Given the description of an element on the screen output the (x, y) to click on. 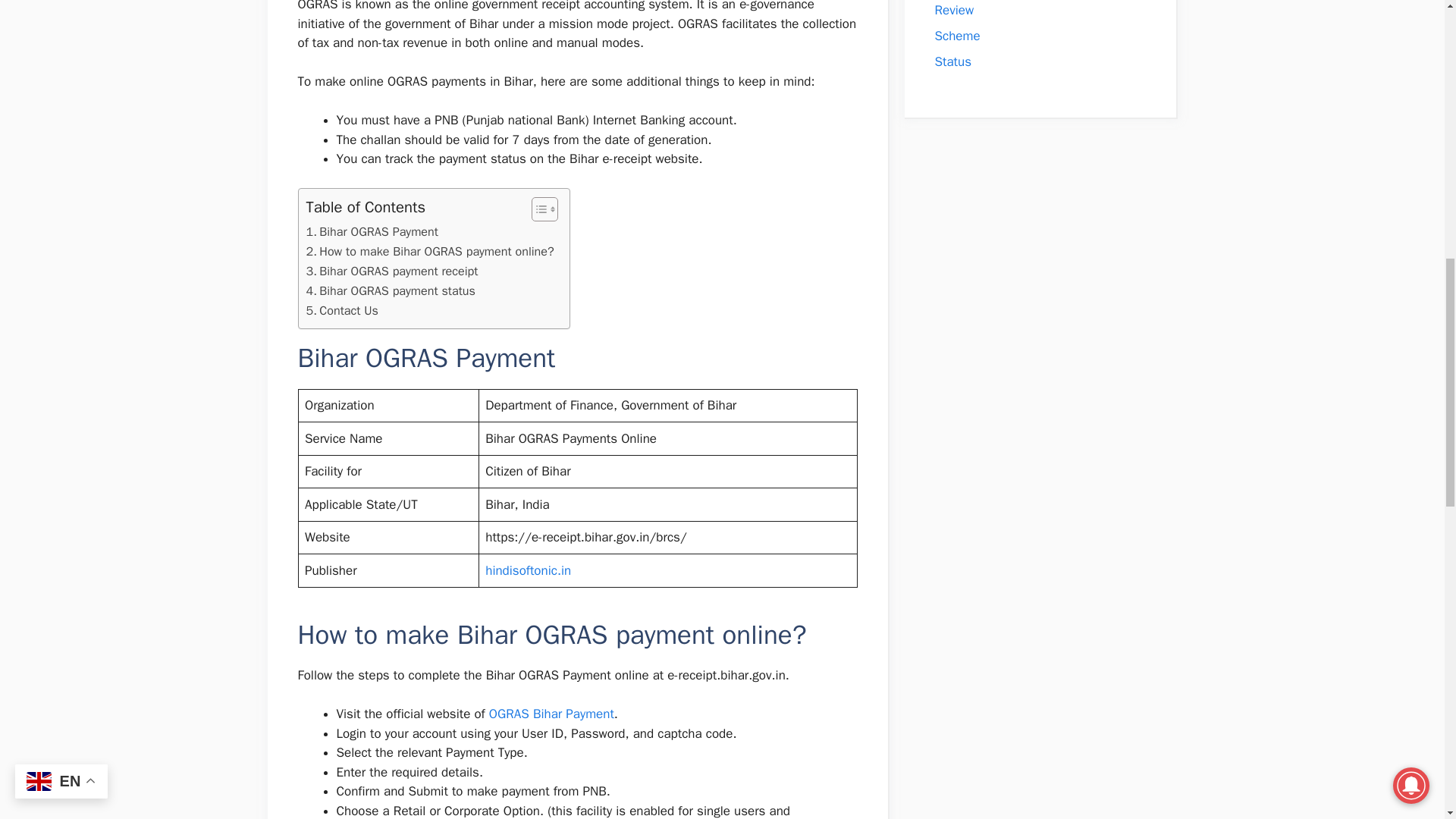
Bihar OGRAS Payment (371, 231)
Bihar OGRAS payment receipt (392, 271)
Contact Us (341, 311)
Contact Us (341, 311)
hindisoftonic.in (527, 570)
How to make Bihar OGRAS payment online? (429, 251)
Bihar OGRAS payment status (390, 291)
Bihar OGRAS payment receipt (392, 271)
How to make Bihar OGRAS payment online? (429, 251)
OGRAS Bihar Payment (551, 713)
